Given the description of an element on the screen output the (x, y) to click on. 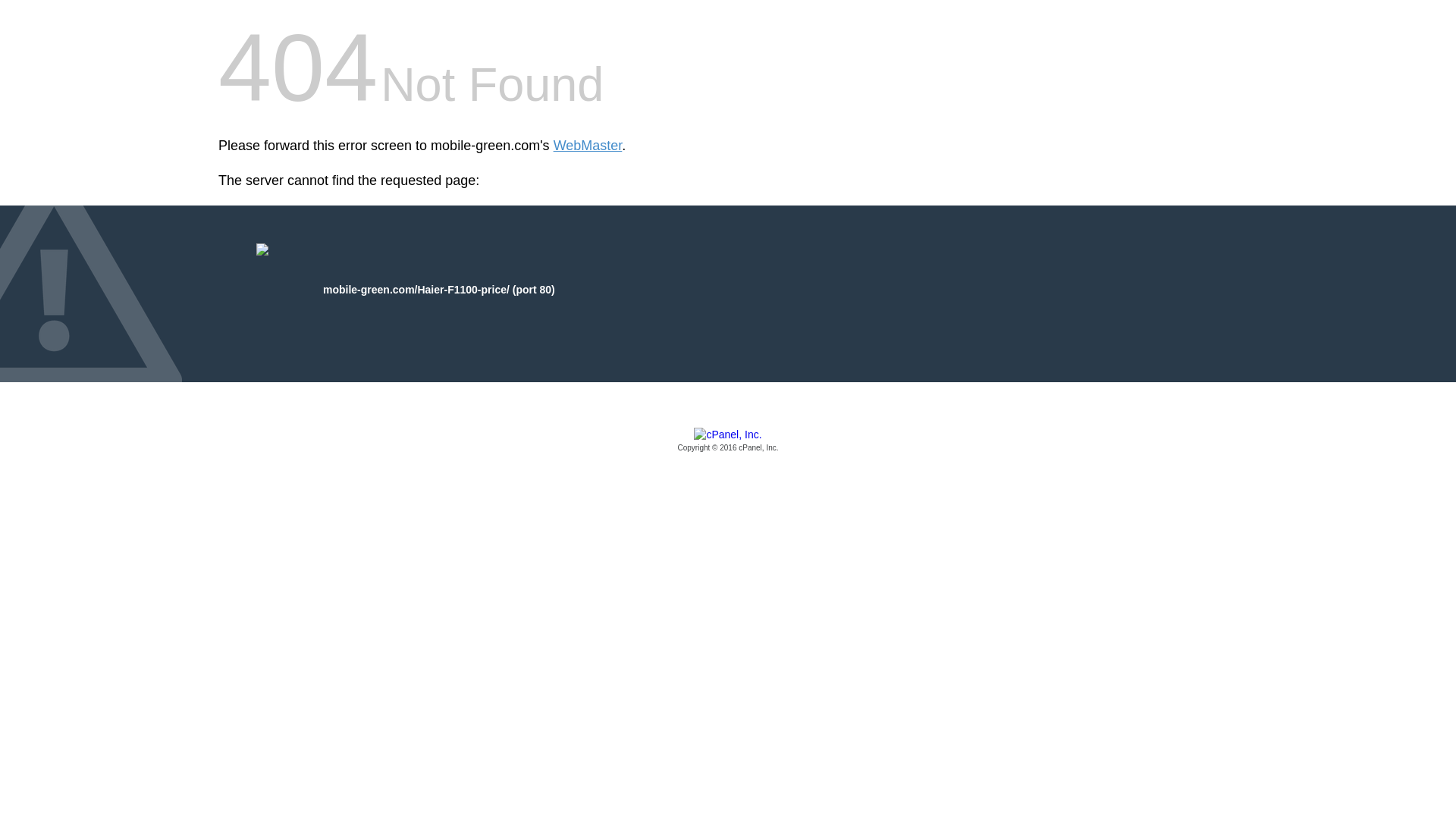
cPanel, Inc. (727, 440)
WebMaster (588, 145)
